Given the description of an element on the screen output the (x, y) to click on. 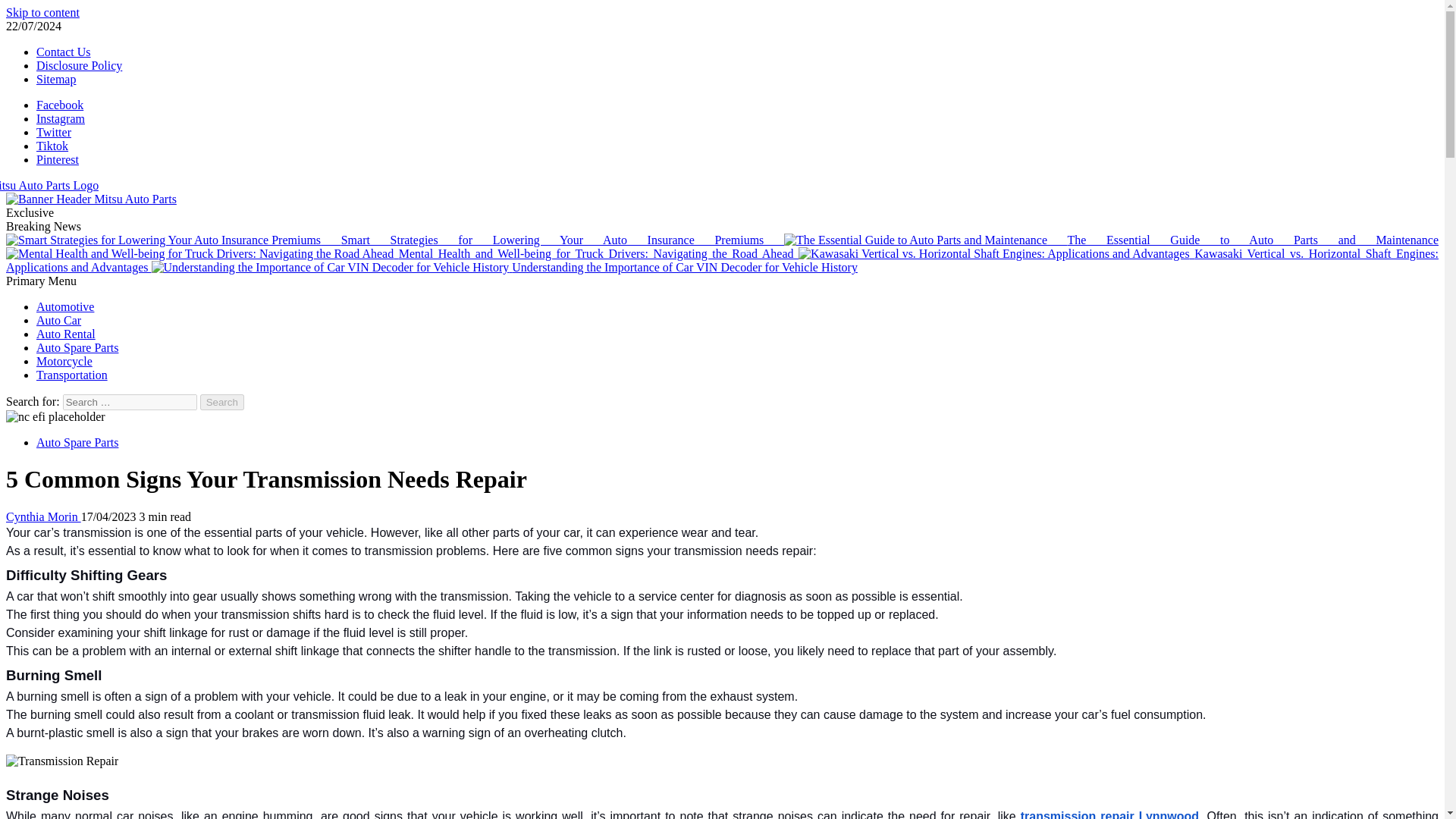
Primary Menu (41, 280)
Auto Rental (66, 333)
Search (222, 401)
Auto Spare Parts (76, 441)
Automotive (65, 306)
Tiktok (52, 145)
Pinterest (57, 159)
5 Common Signs Your Transmission Needs Repair 3 (61, 761)
Transportation (71, 374)
5 Common Signs Your Transmission Needs Repair 1 (54, 417)
Search (222, 401)
Auto Spare Parts (76, 347)
Contact Us (63, 51)
Search (222, 401)
